Given the description of an element on the screen output the (x, y) to click on. 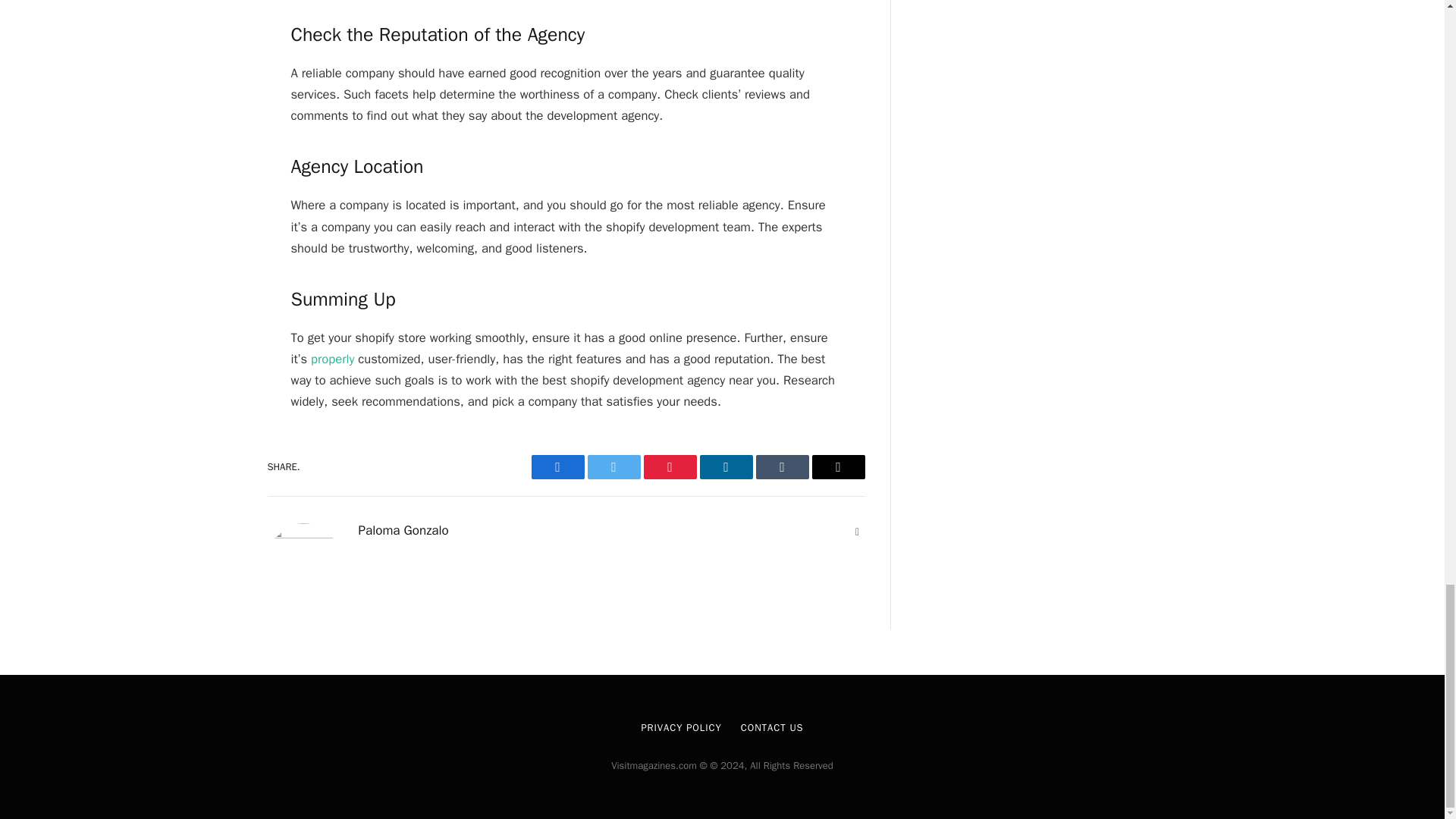
Facebook (557, 467)
Twitter (613, 467)
properly (330, 358)
